Given the description of an element on the screen output the (x, y) to click on. 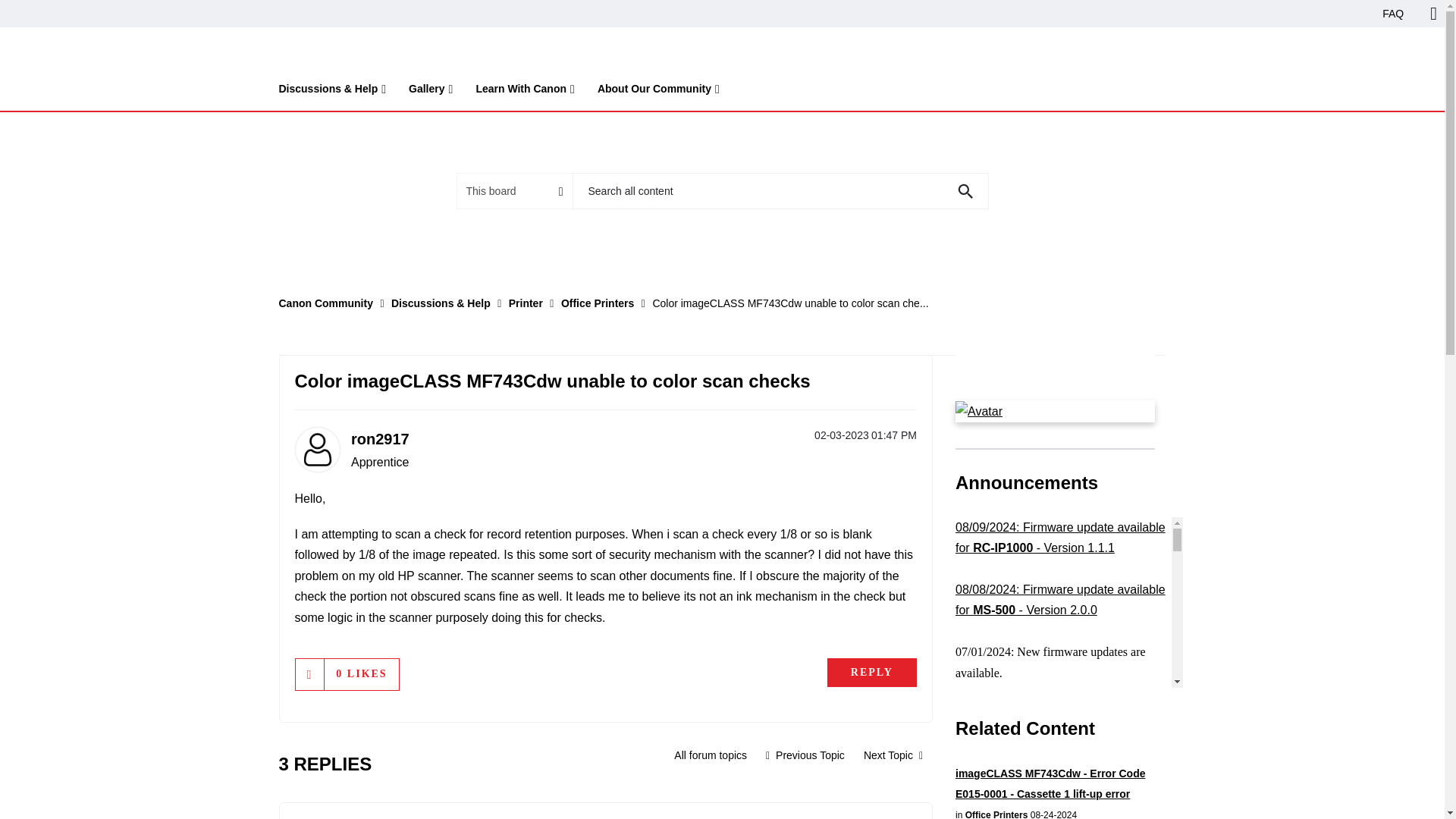
Search (964, 190)
Search (964, 190)
The total number of likes this post has received. (360, 673)
Search (964, 190)
Office Printers (710, 755)
Learn With Canon (525, 91)
Canon Community (339, 53)
Search Granularity (514, 190)
ron2917 (316, 449)
